Given the description of an element on the screen output the (x, y) to click on. 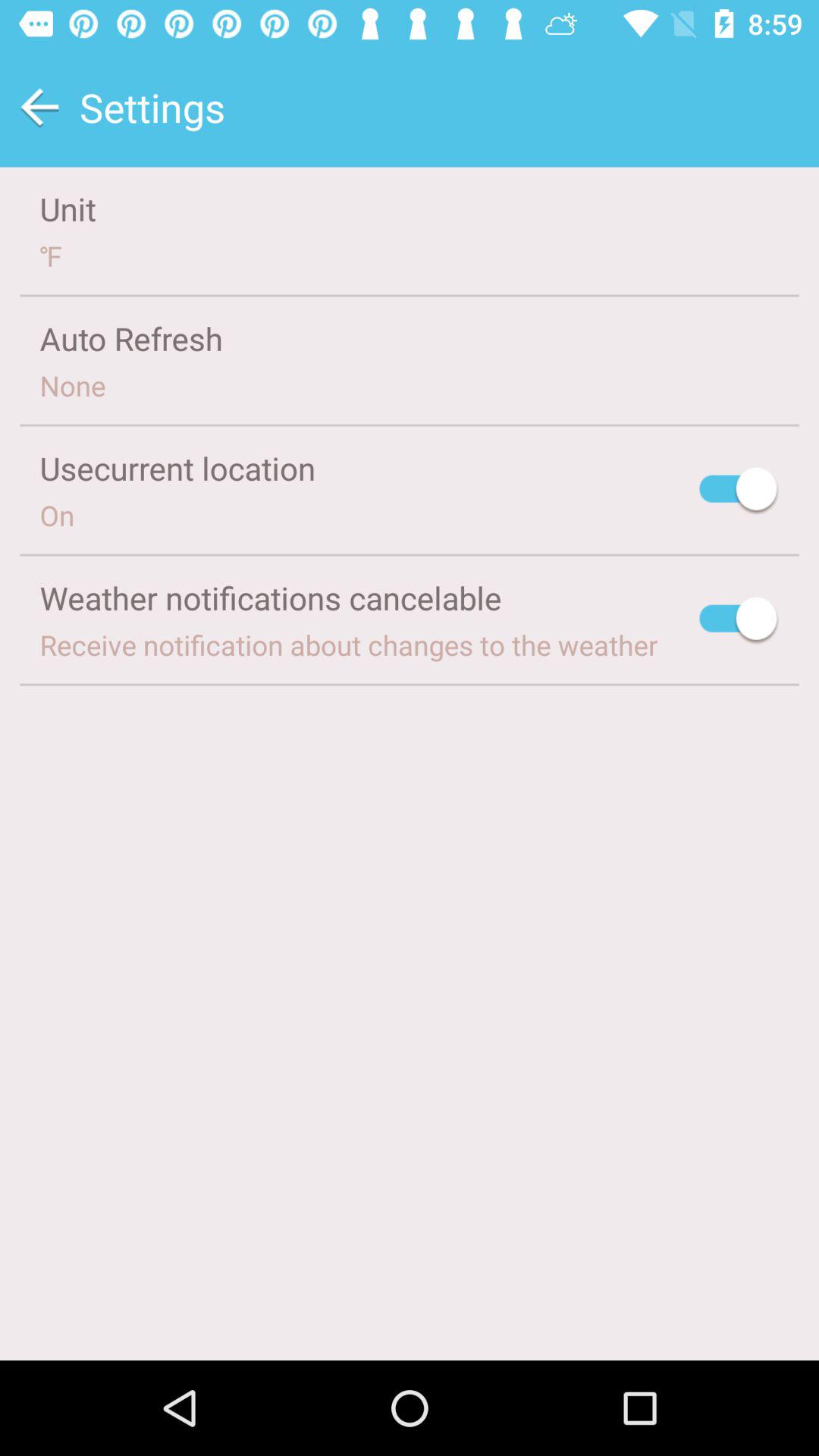
enable notifications (739, 620)
